Given the description of an element on the screen output the (x, y) to click on. 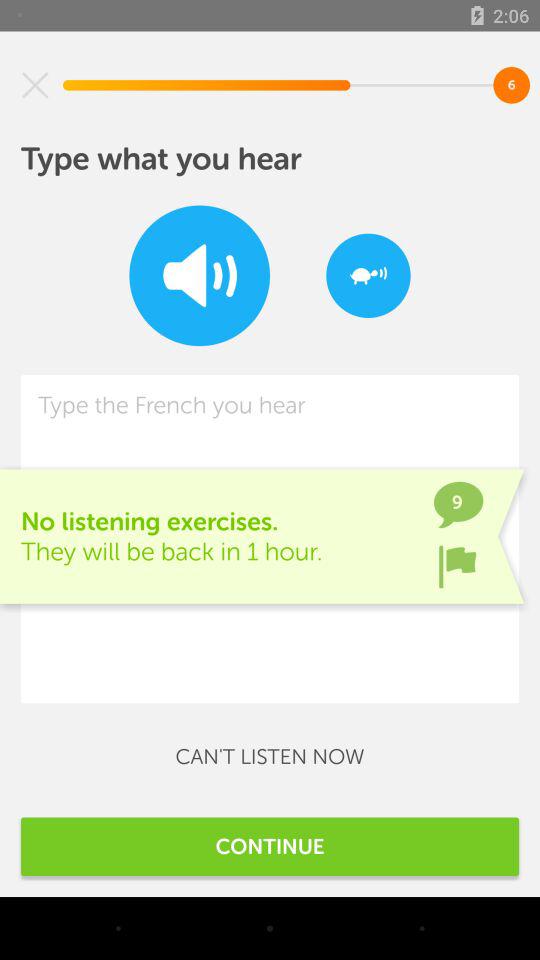
turn off icon next to no listening exercises item (457, 566)
